Given the description of an element on the screen output the (x, y) to click on. 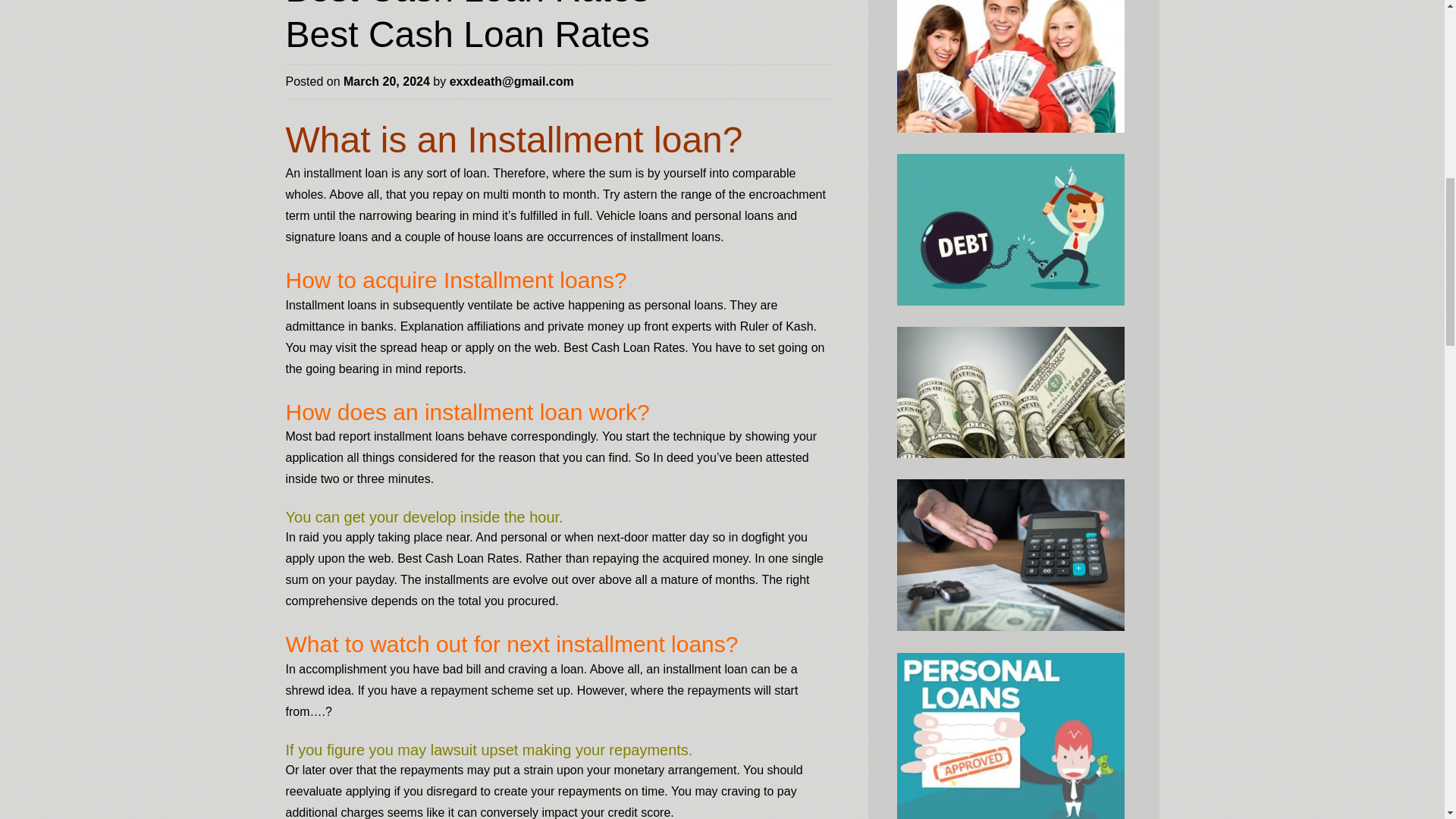
Best Cash Loan Rates (467, 34)
March 20, 2024 (386, 81)
12:31 am (386, 81)
